Given the description of an element on the screen output the (x, y) to click on. 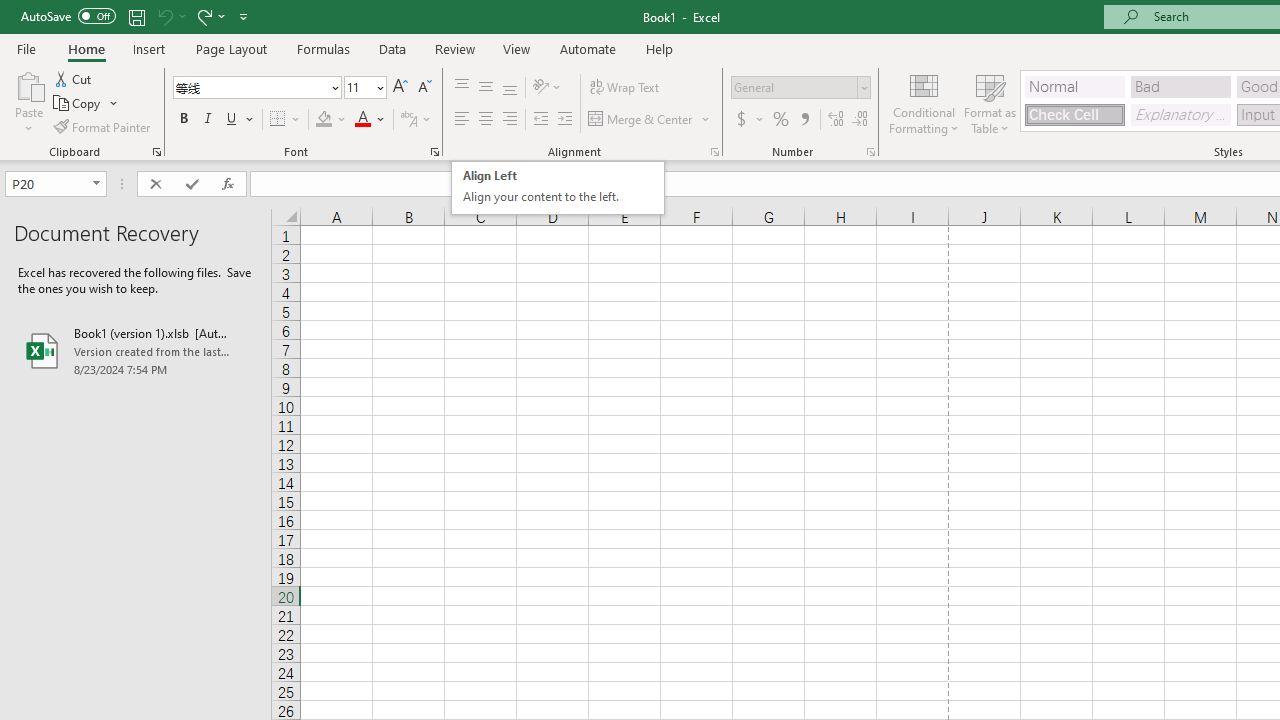
Format as Table (557, 188)
Cut (990, 102)
Decrease Indent (73, 78)
Number Format (540, 119)
Bold (794, 87)
Merge & Center (183, 119)
Comma Style (641, 119)
Font Size (804, 119)
Font (365, 87)
Font Color (250, 87)
Automate (370, 119)
Top Align (588, 48)
